Given the description of an element on the screen output the (x, y) to click on. 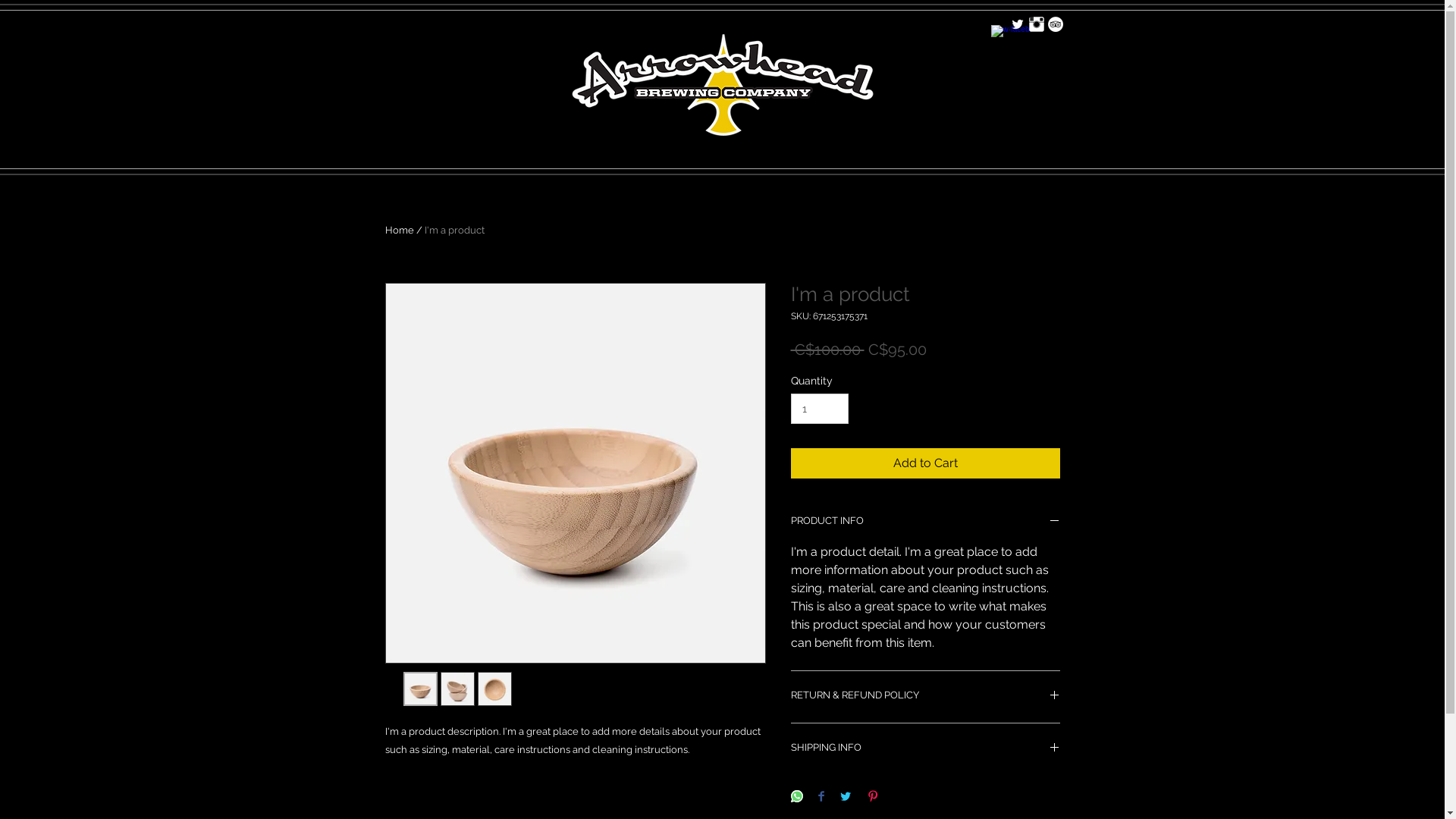
Home Element type: text (399, 229)
Add to Cart Element type: text (924, 463)
I'm a product Element type: text (454, 229)
RETURN & REFUND POLICY Element type: text (924, 696)
SHIPPING INFO Element type: text (924, 748)
PRODUCT INFO Element type: text (924, 522)
